Given the description of an element on the screen output the (x, y) to click on. 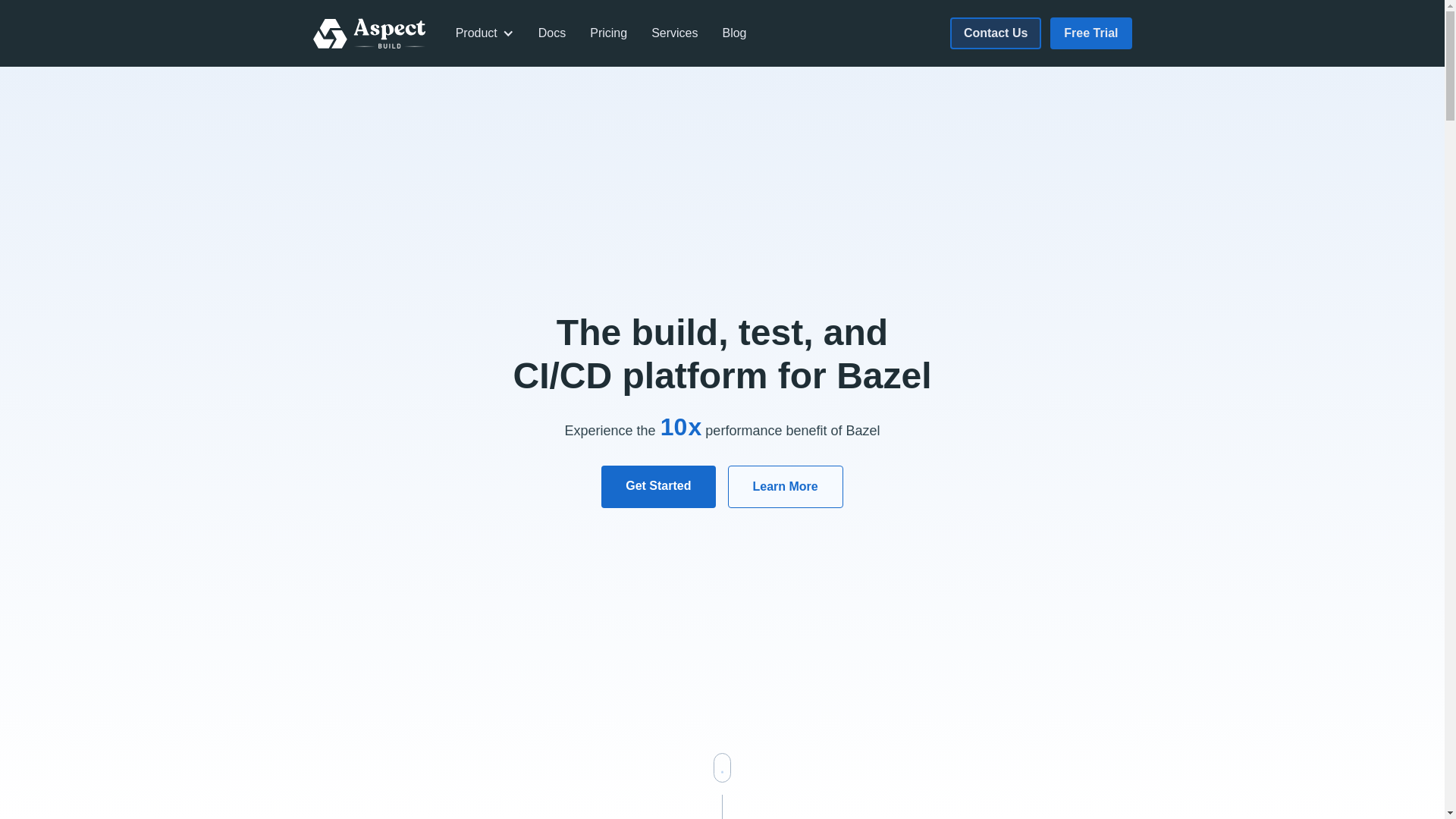
Contact Us Element type: text (995, 33)
Get Started Element type: text (658, 486)
Learn More Element type: text (785, 486)
Pricing Element type: text (608, 32)
Blog Element type: text (733, 32)
Services Element type: text (674, 32)
Docs Element type: text (551, 32)
Free Trial Element type: text (1090, 33)
